Given the description of an element on the screen output the (x, y) to click on. 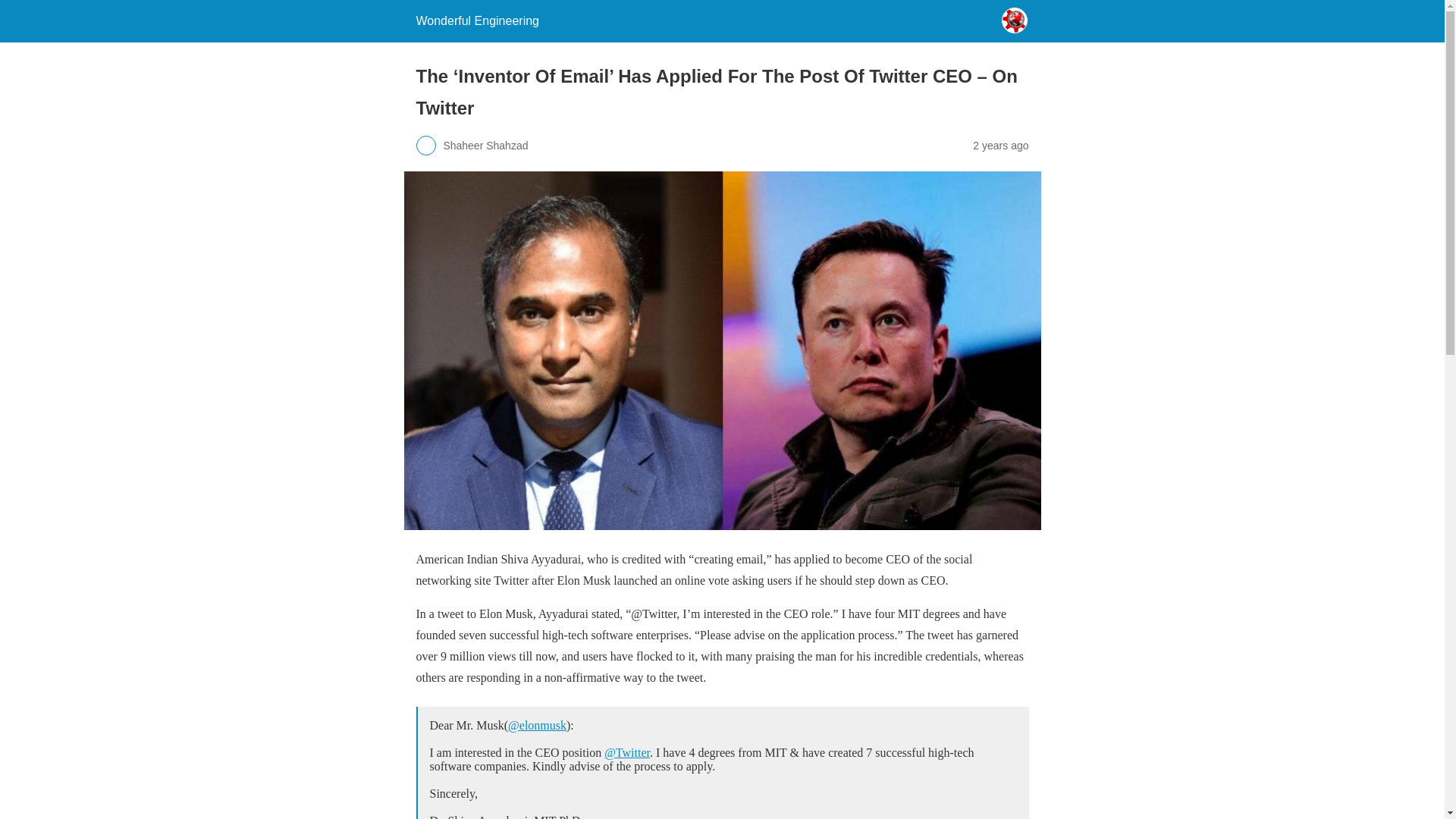
Wonderful Engineering (476, 20)
Twitter (720, 760)
